Given the description of an element on the screen output the (x, y) to click on. 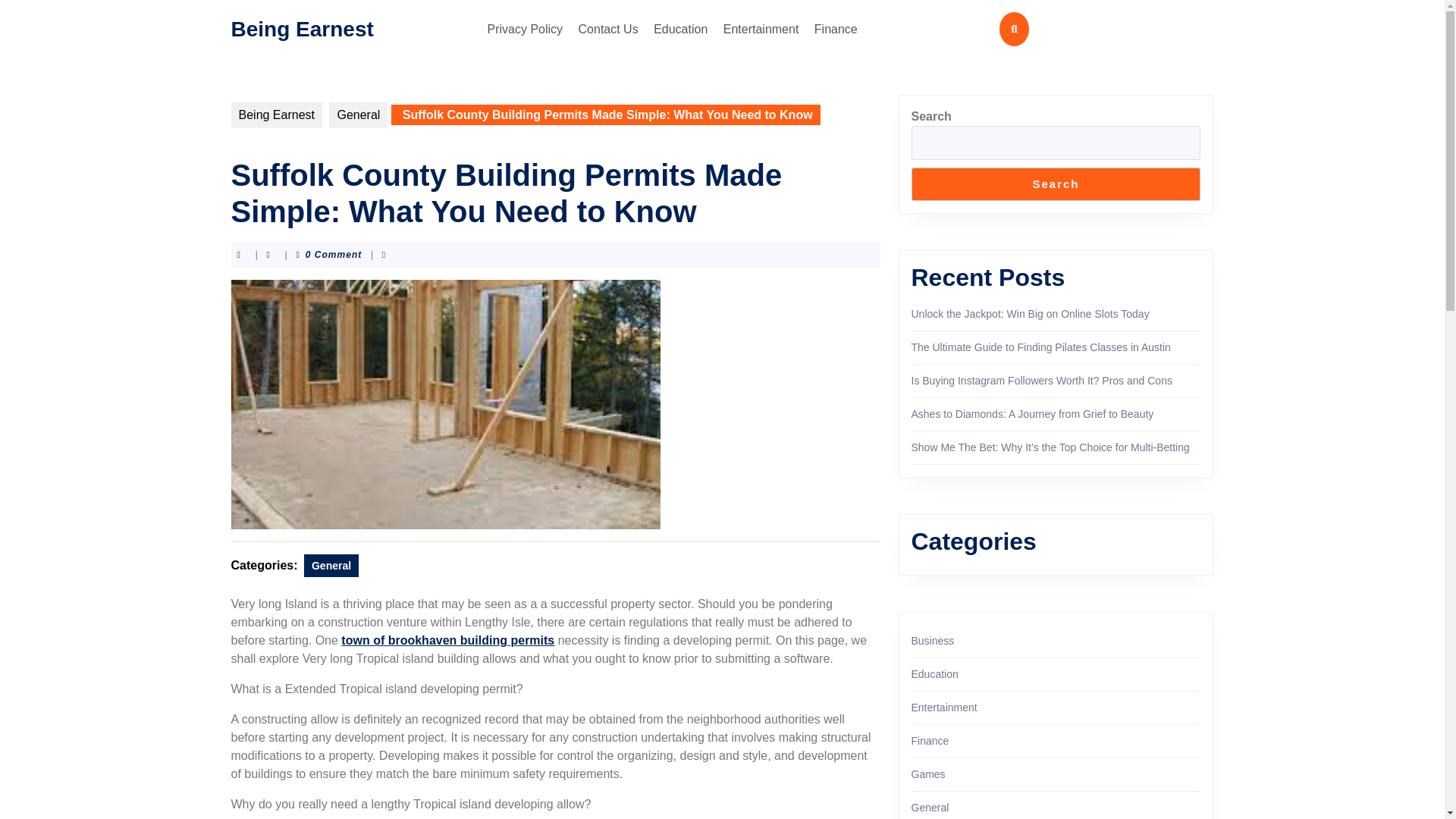
Being Earnest (275, 114)
Entertainment (761, 28)
Privacy Policy (524, 28)
Search (1056, 183)
General (331, 565)
Contact Us (608, 28)
Education (680, 28)
Ashes to Diamonds: A Journey from Grief to Beauty (1032, 413)
Being Earnest (301, 28)
town of brookhaven building permits (447, 640)
Is Buying Instagram Followers Worth It? Pros and Cons (1041, 380)
Business (933, 640)
Unlock the Jackpot: Win Big on Online Slots Today (1030, 313)
The Ultimate Guide to Finding Pilates Classes in Austin (1040, 346)
Finance (835, 28)
